Given the description of an element on the screen output the (x, y) to click on. 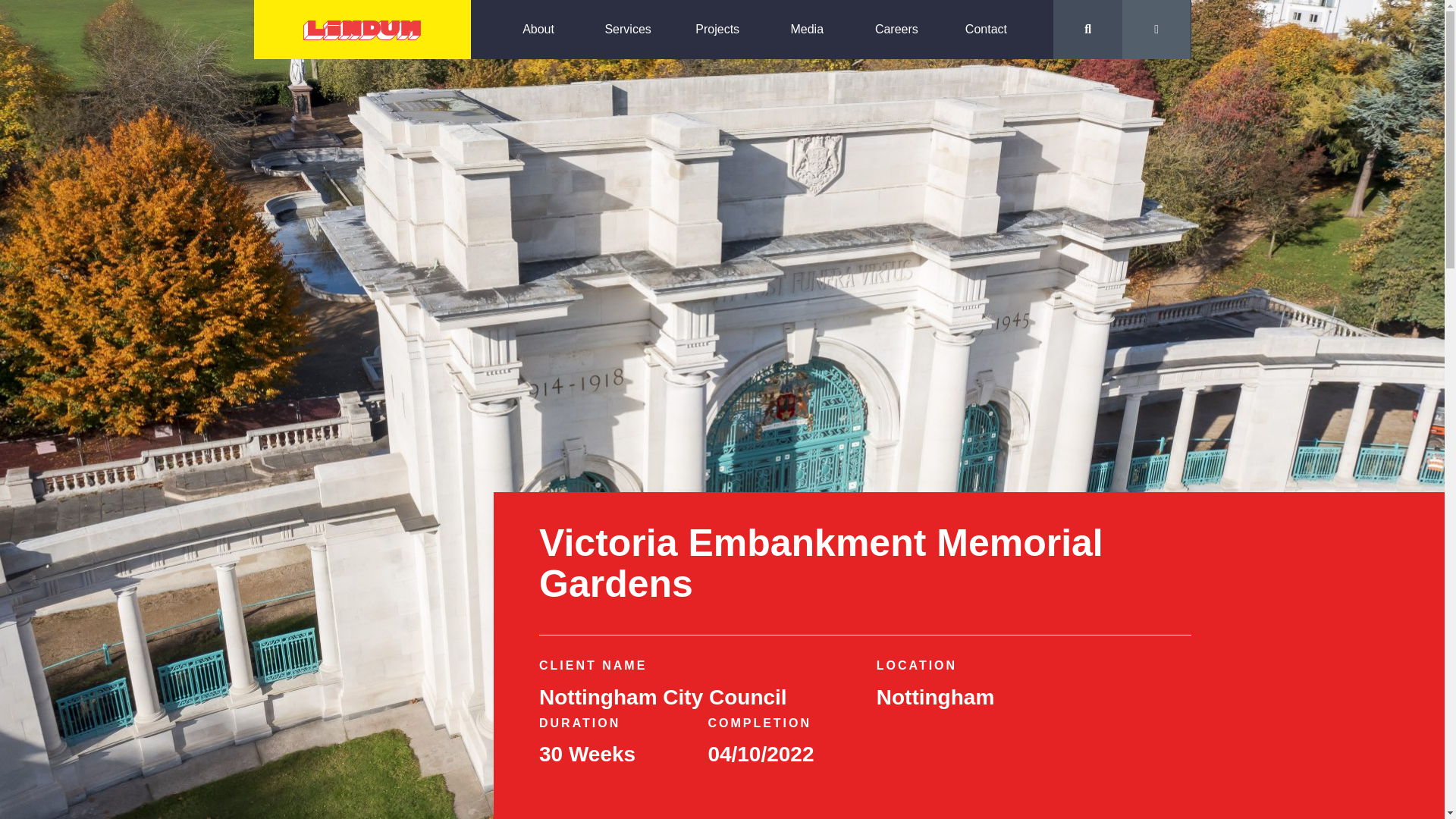
Careers (895, 29)
Contact (985, 29)
Services (627, 29)
Projects (716, 29)
Media (806, 29)
About (538, 29)
